Given the description of an element on the screen output the (x, y) to click on. 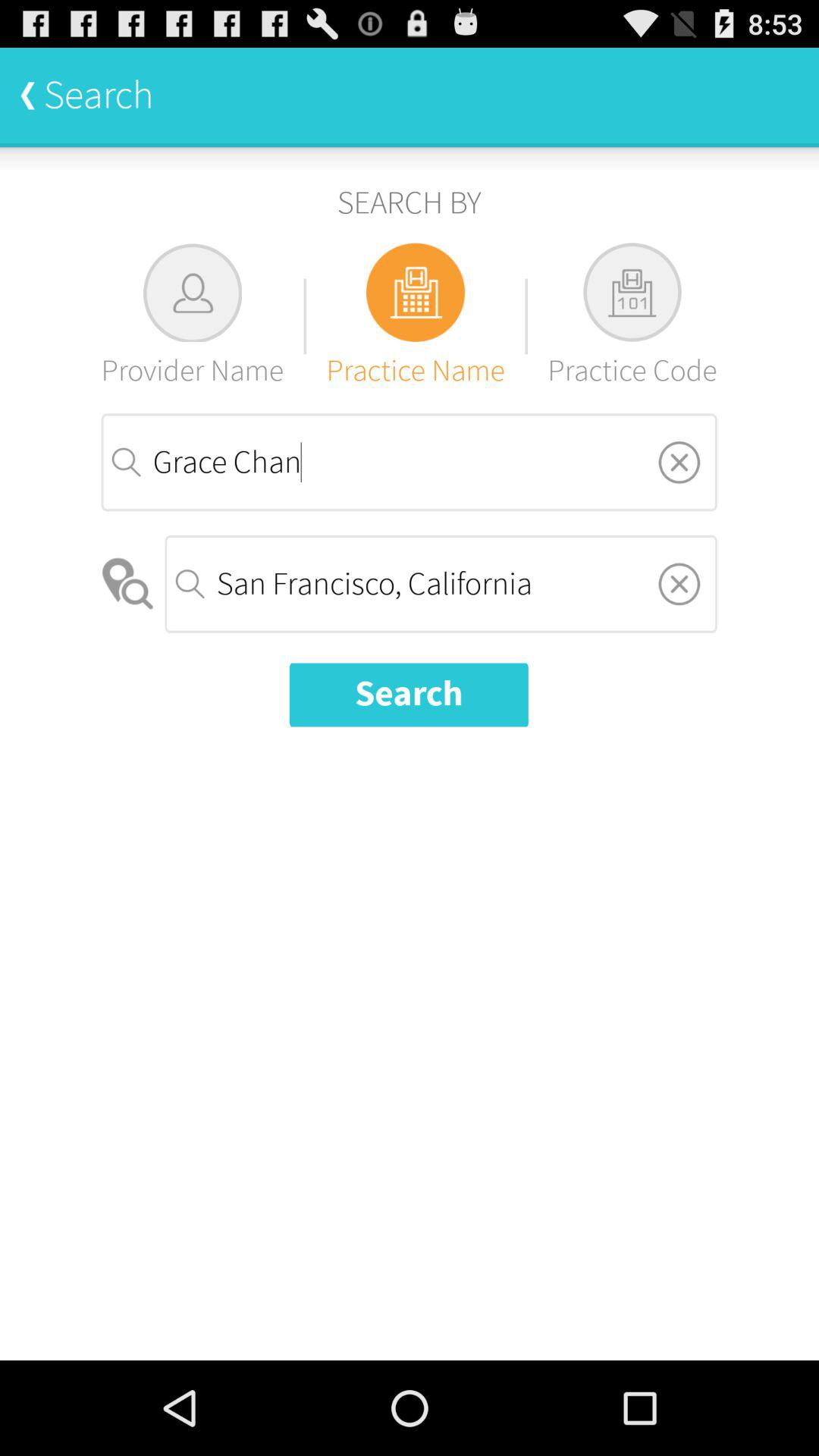
tap the item above the grace chan (632, 315)
